Given the description of an element on the screen output the (x, y) to click on. 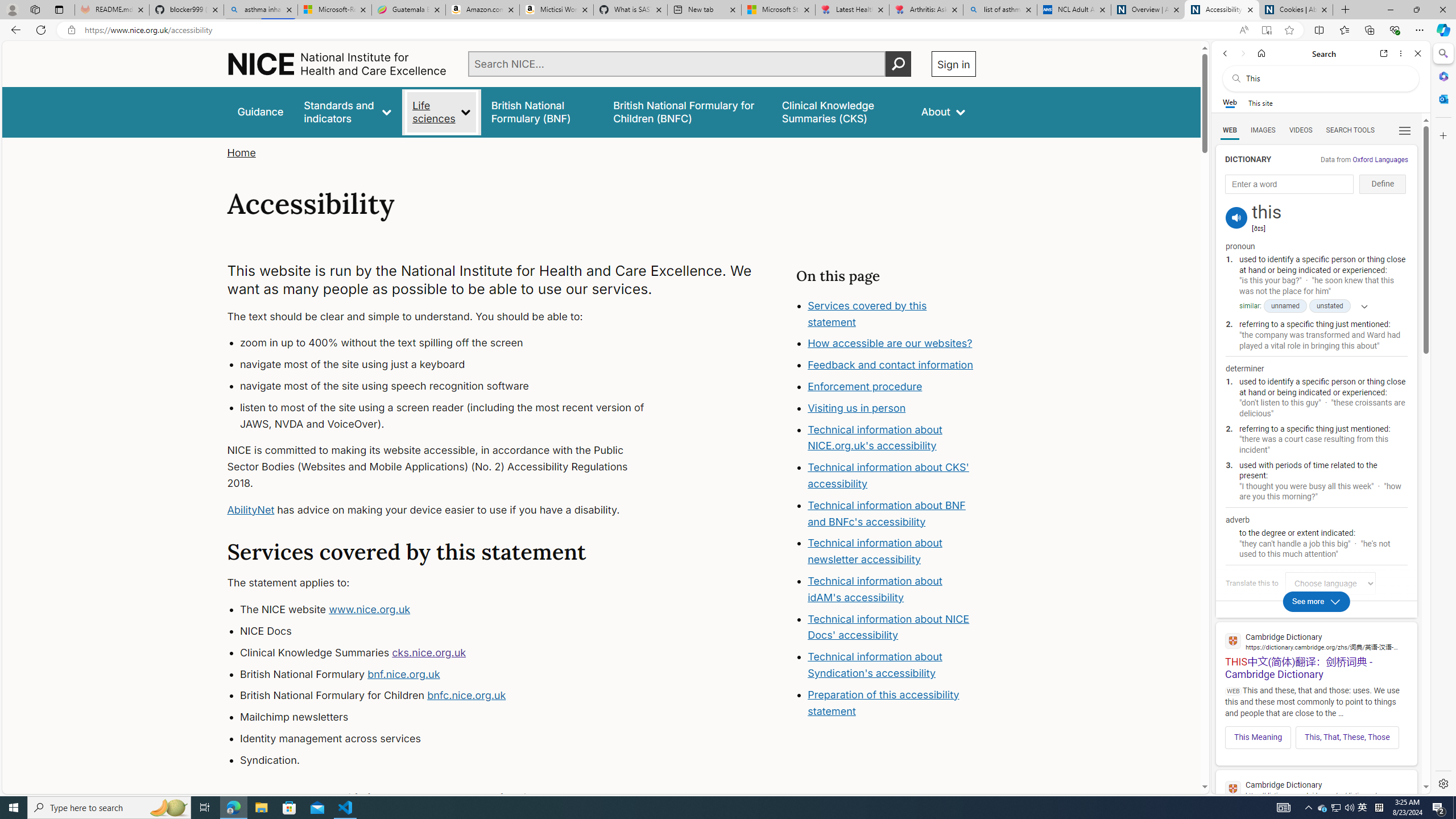
false (841, 111)
Oxford Languages (1379, 159)
navigate most of the site using speech recognition software (452, 385)
Technical information about NICE Docs' accessibility (888, 626)
Technical information about idAM's accessibility (875, 588)
Link for logging (1333, 582)
